Given the description of an element on the screen output the (x, y) to click on. 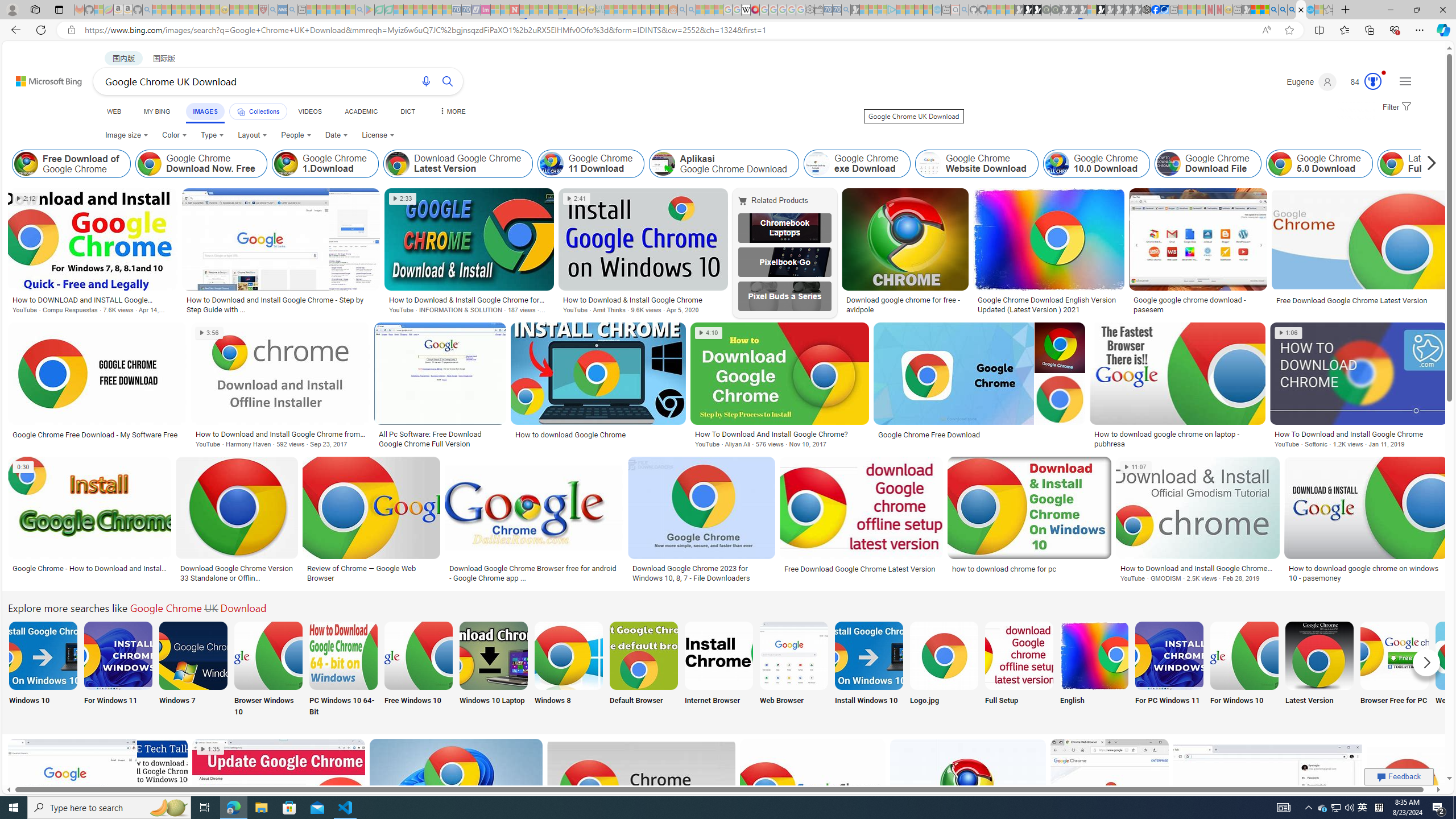
Google Chrome 1.Download (285, 163)
Browser Windows 10 (268, 669)
Chromebook Laptops UK (784, 227)
how to download chrome for pc (1003, 568)
Free Download Google Chrome Latest Version (861, 568)
MediaWiki (754, 9)
Free Download of Google Chrome (25, 163)
